Given the description of an element on the screen output the (x, y) to click on. 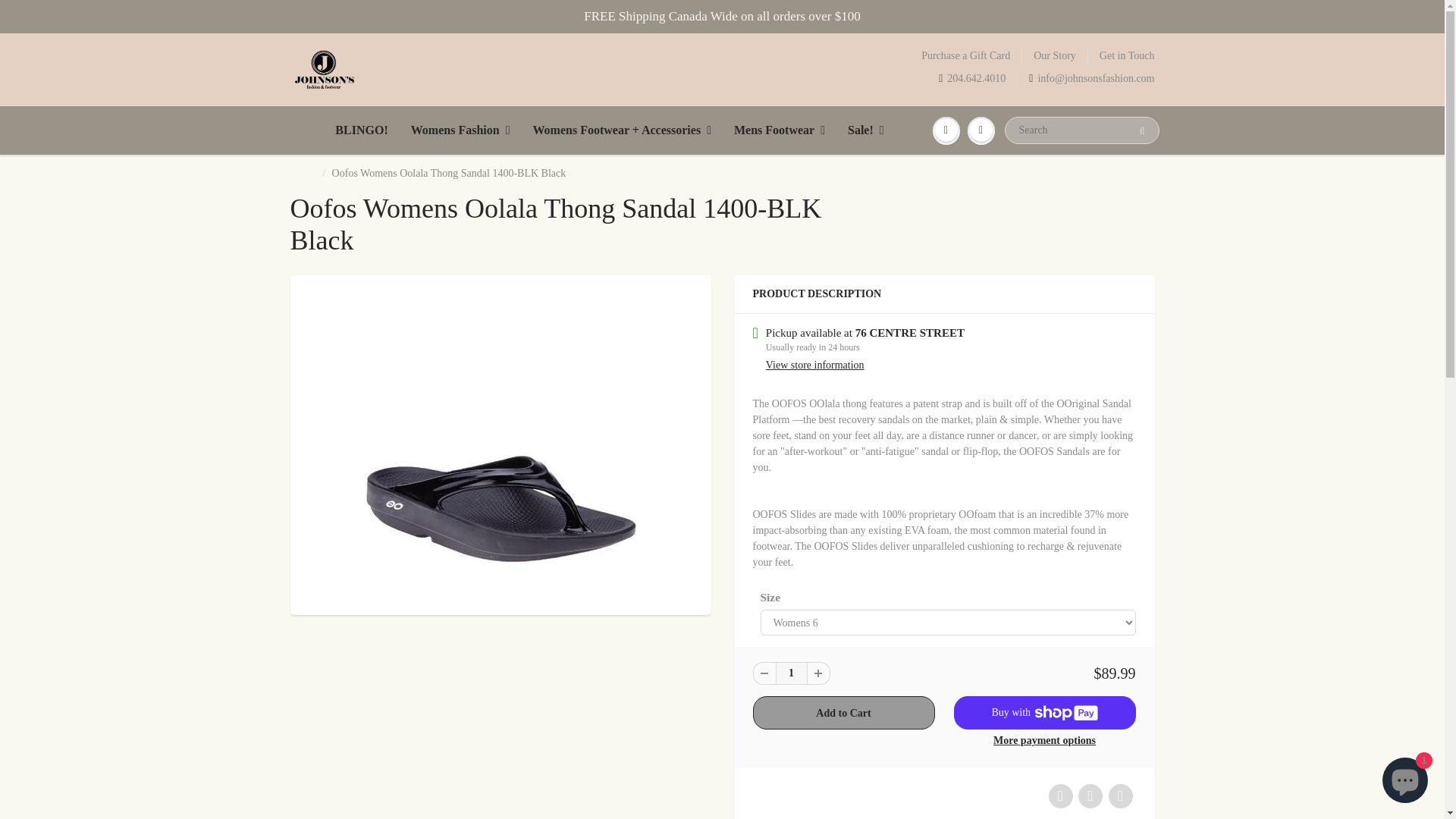
BLINGO! (360, 130)
Add to Cart (843, 712)
Womens Fashion (459, 130)
Purchase a Gift Card (965, 55)
Get in Touch (1126, 55)
Oofos Womens Oolala Thong Sandal 1400-BLK Black (500, 442)
1 (790, 672)
Our Story (1054, 55)
204.642.4010 (972, 78)
Home (302, 173)
Shopify online store chat (1404, 781)
